Given the description of an element on the screen output the (x, y) to click on. 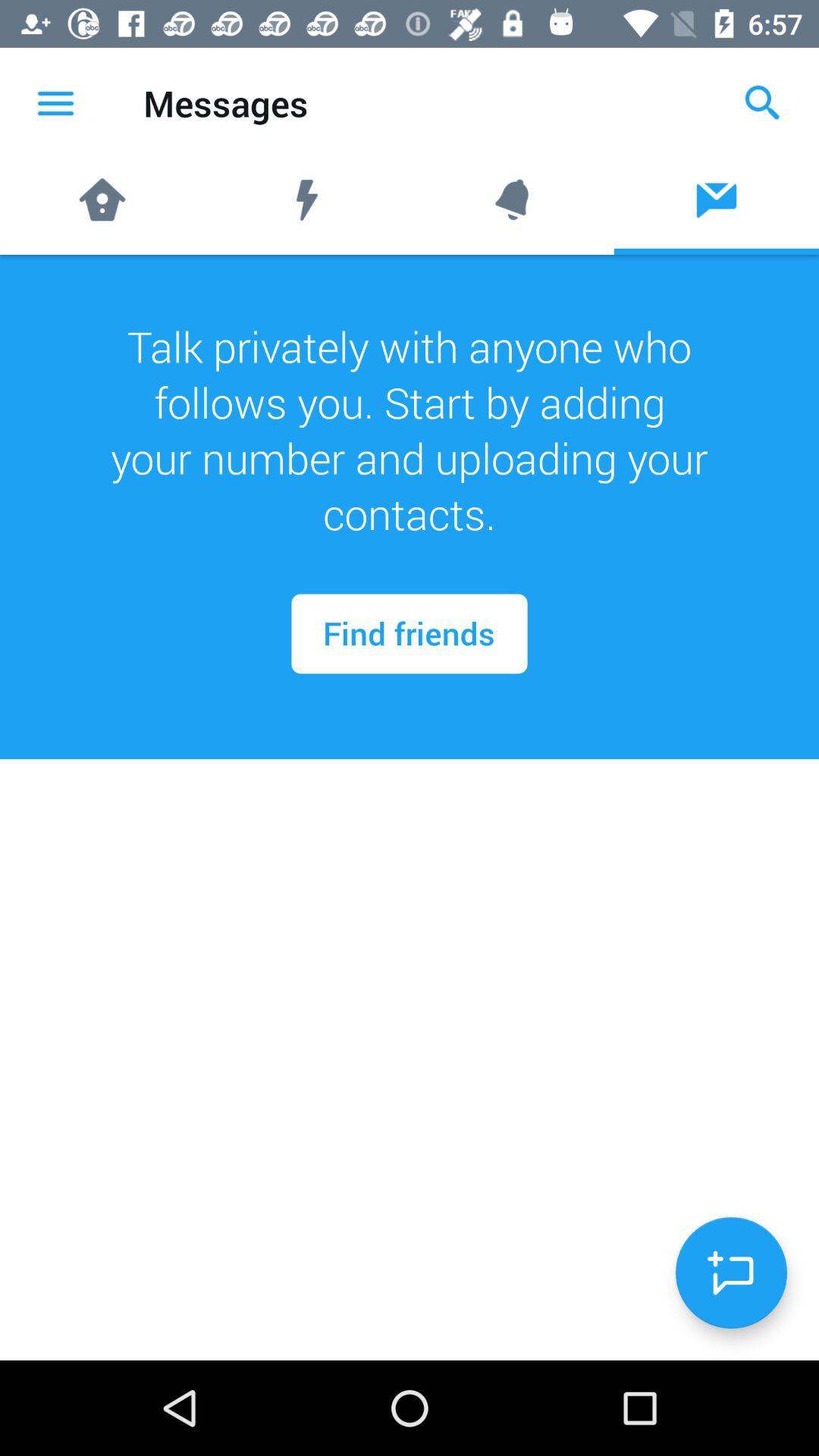
select item below talk privately with (731, 1272)
